Given the description of an element on the screen output the (x, y) to click on. 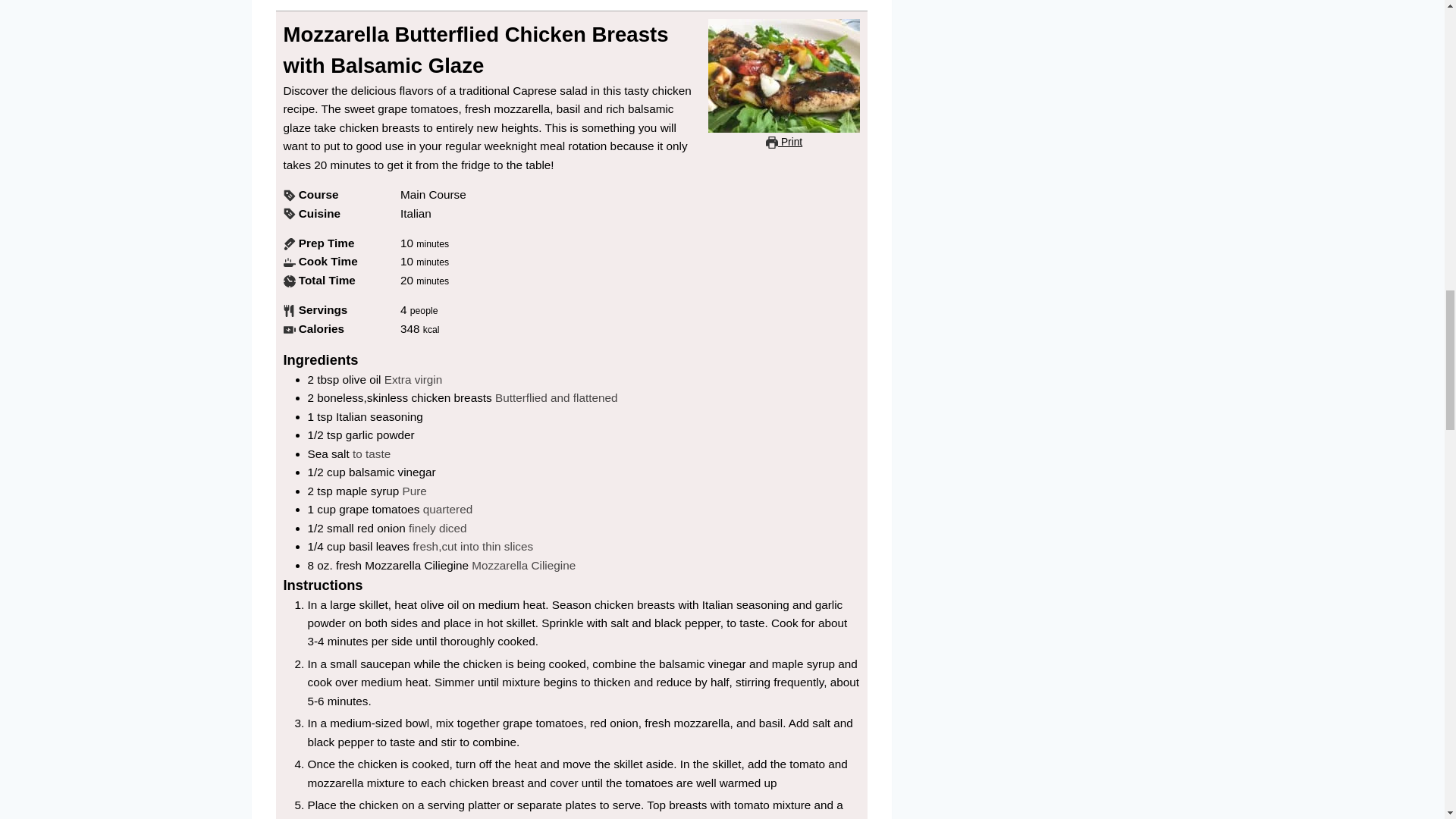
Mozzarella Chicken Breasts Recipe 2 (783, 75)
Print (783, 142)
